Given the description of an element on the screen output the (x, y) to click on. 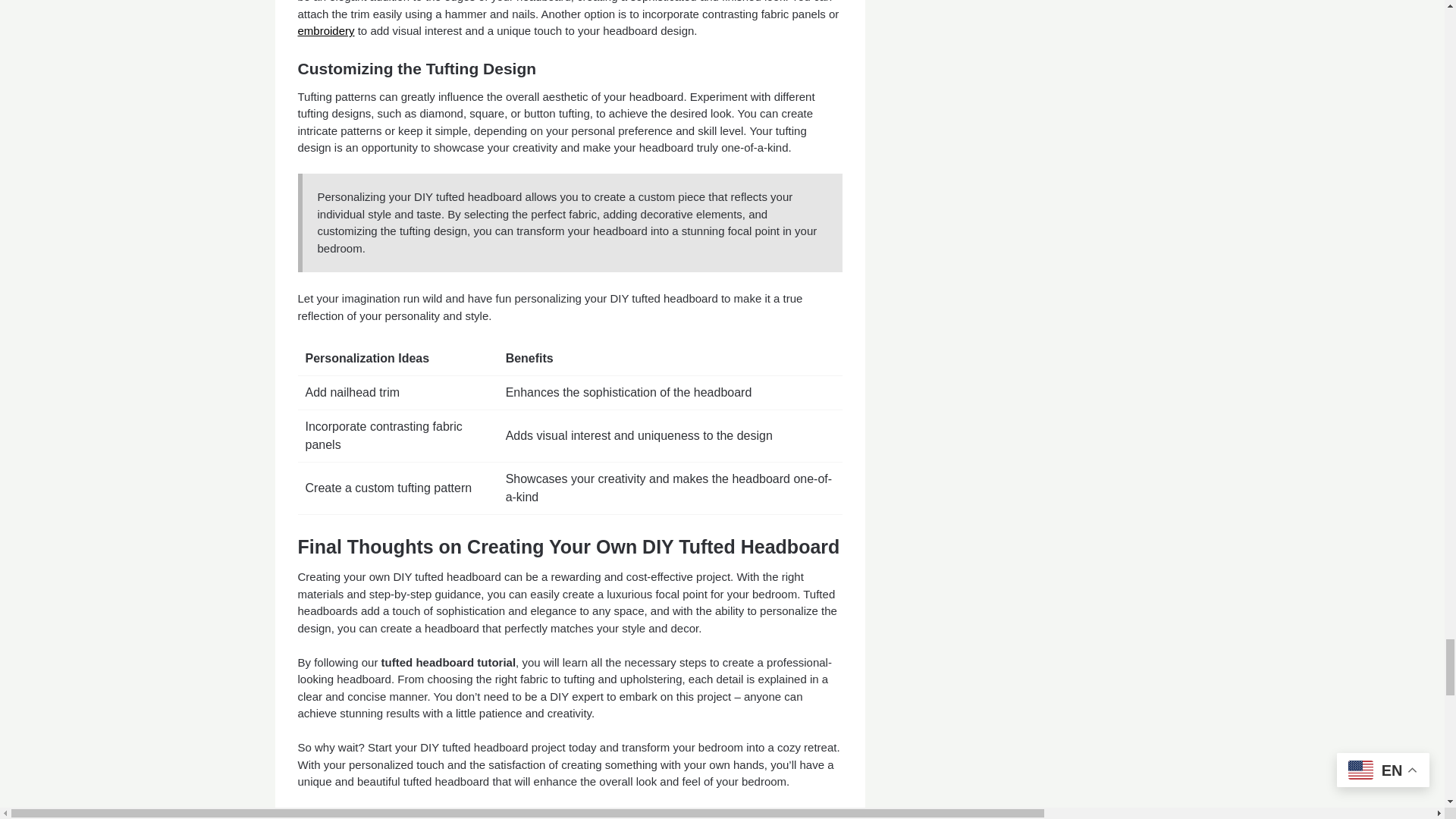
embroidery (325, 30)
